Given the description of an element on the screen output the (x, y) to click on. 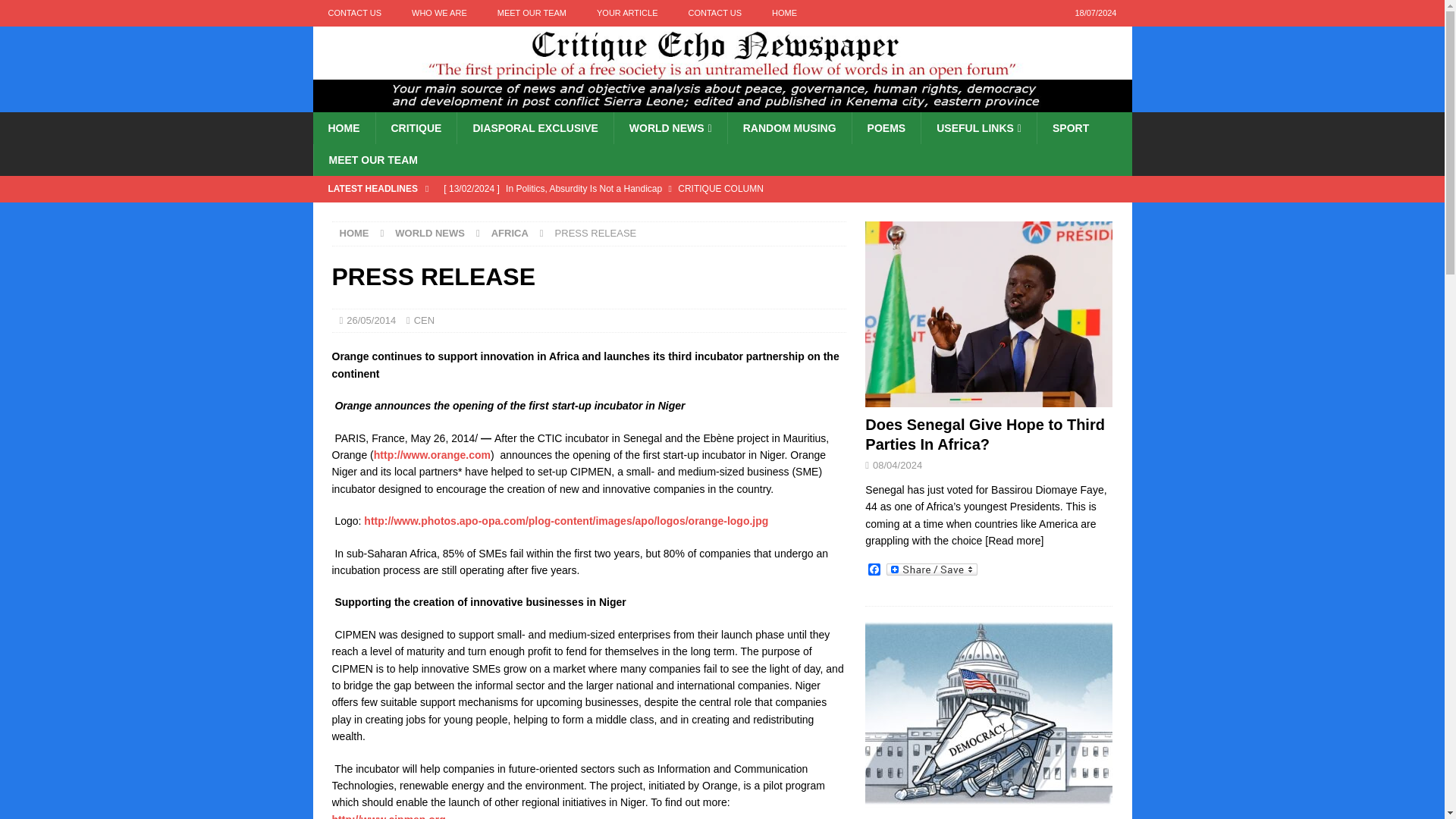
This external link will open in a new window (566, 521)
In Politics, Absurdity Is Not a Handicap (639, 188)
CONTACT US (354, 13)
DIASPORAL EXCLUSIVE (534, 128)
MEET OUR TEAM (530, 13)
WORLD NEWS (669, 128)
Feed Salone Again: If We Can Dream It, We Can Do It. (639, 214)
YOUR ARTICLE (626, 13)
CONTACT US (714, 13)
HOME (343, 128)
Critique Echo Newspaper (722, 102)
This external link will open in a new window (432, 454)
CRITIQUE (415, 128)
This external link will open in a new window (388, 816)
WHO WE ARE (438, 13)
